Given the description of an element on the screen output the (x, y) to click on. 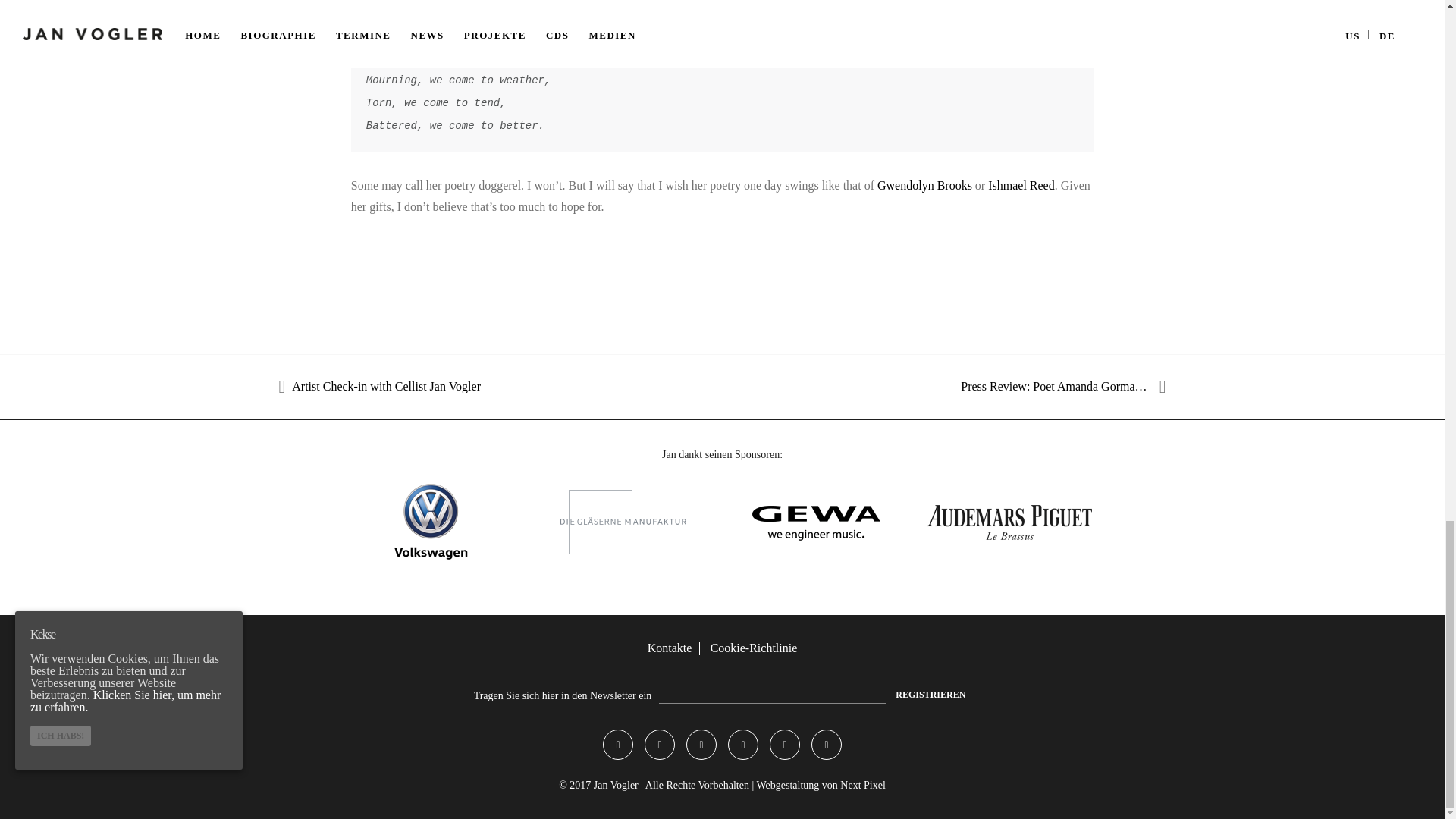
Gwendolyn Brooks (924, 185)
Ishmael Reed (1021, 185)
Registrieren (930, 694)
Cookie-Richtlinie (753, 647)
Next (750, 580)
Artist Check-in with Cellist Jan Vogler (389, 386)
Previous (712, 580)
Registrieren (930, 694)
Kontakte (670, 647)
